Given the description of an element on the screen output the (x, y) to click on. 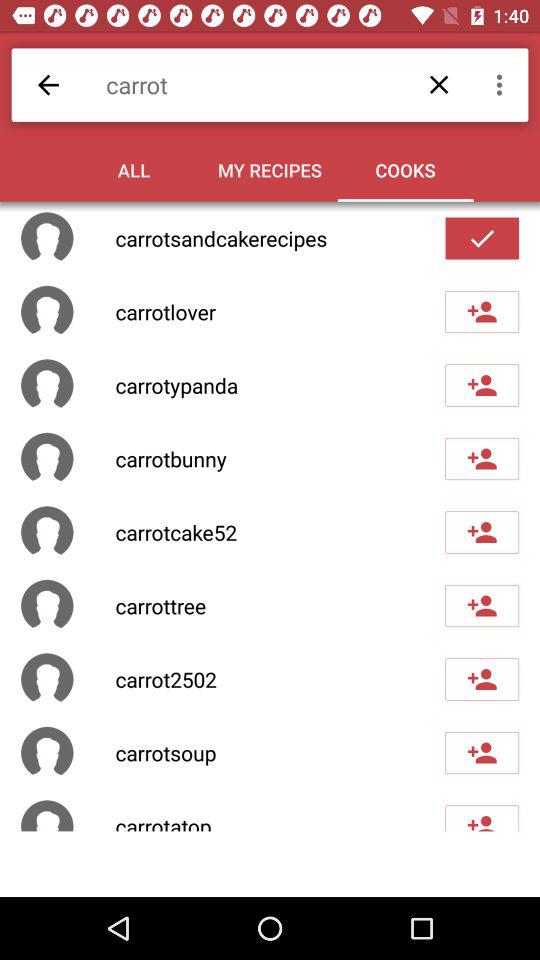
follow user (482, 679)
